Given the description of an element on the screen output the (x, y) to click on. 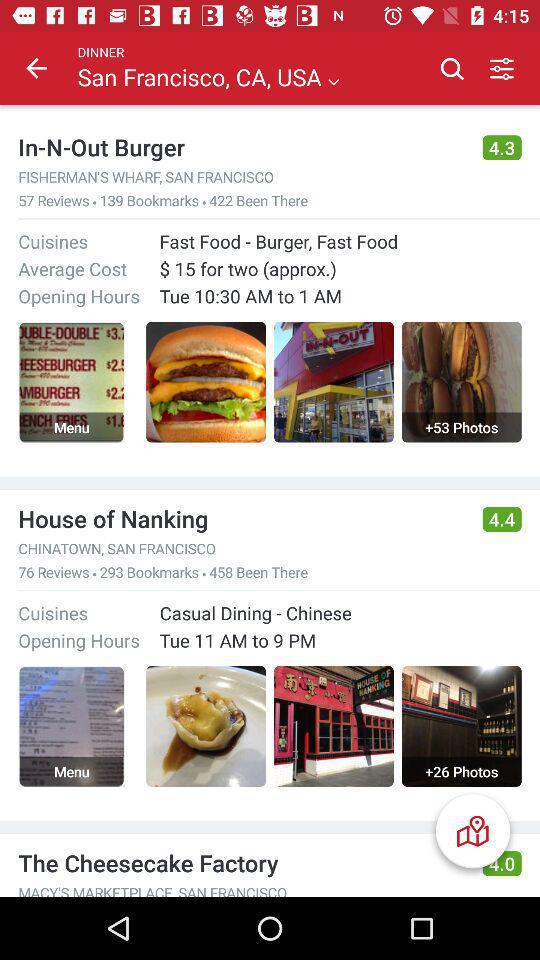
turn off icon below fast food burger item (340, 268)
